Given the description of an element on the screen output the (x, y) to click on. 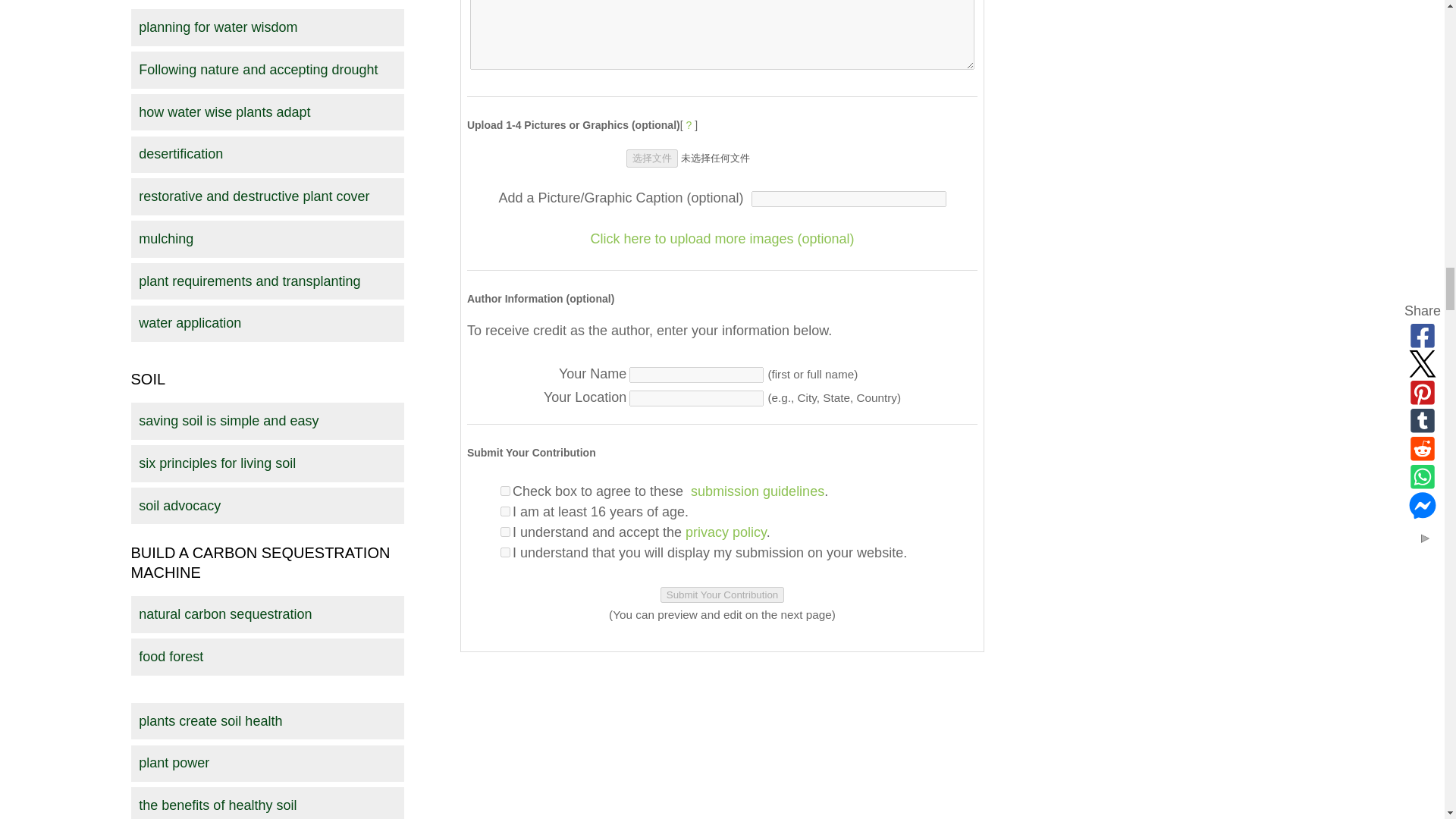
1 (505, 552)
1 (505, 511)
checkbox (505, 491)
Submit Your Contribution (722, 594)
1 (505, 532)
